Given the description of an element on the screen output the (x, y) to click on. 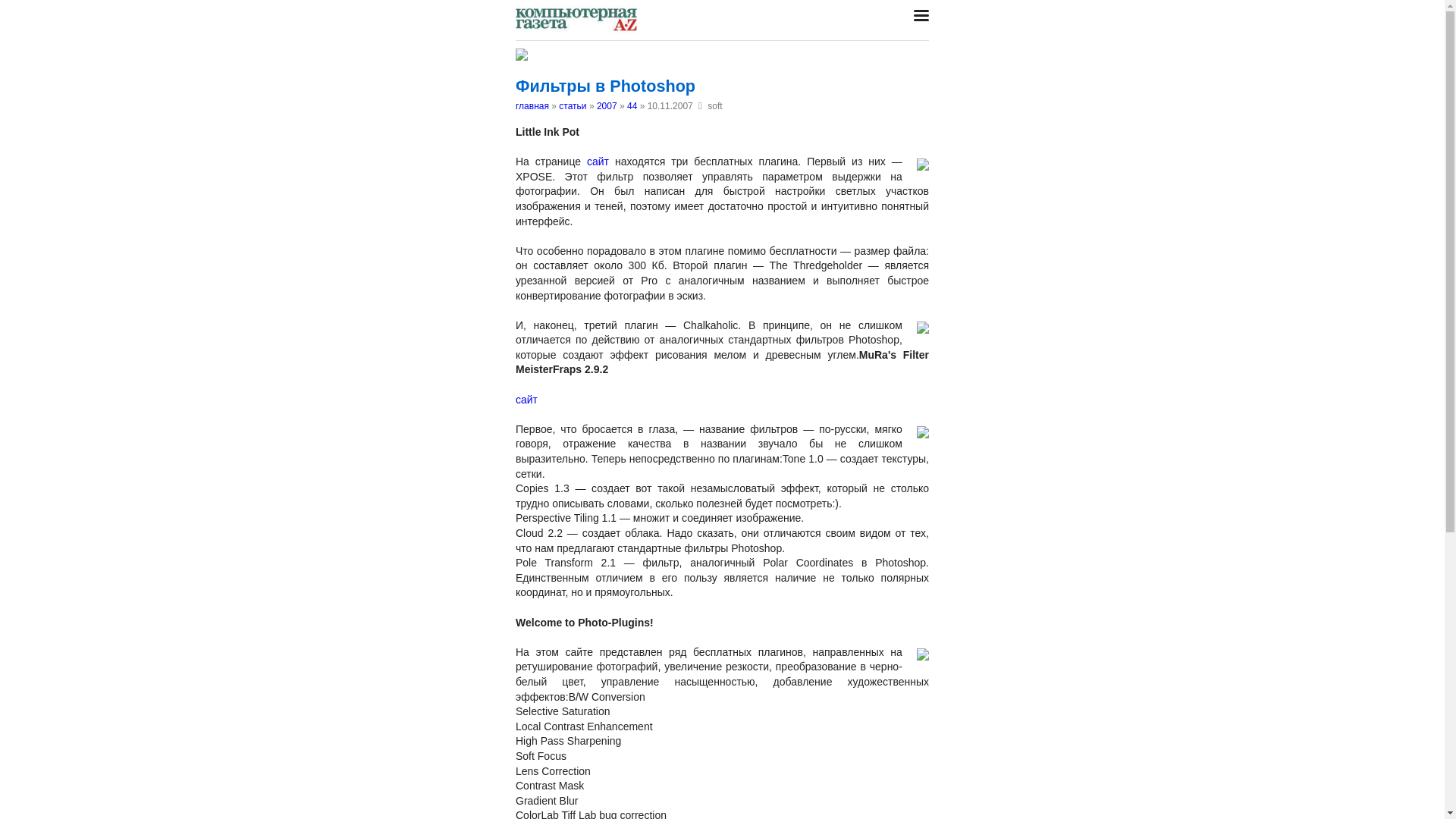
2007 Element type: text (606, 105)
44 Element type: text (632, 105)
